Given the description of an element on the screen output the (x, y) to click on. 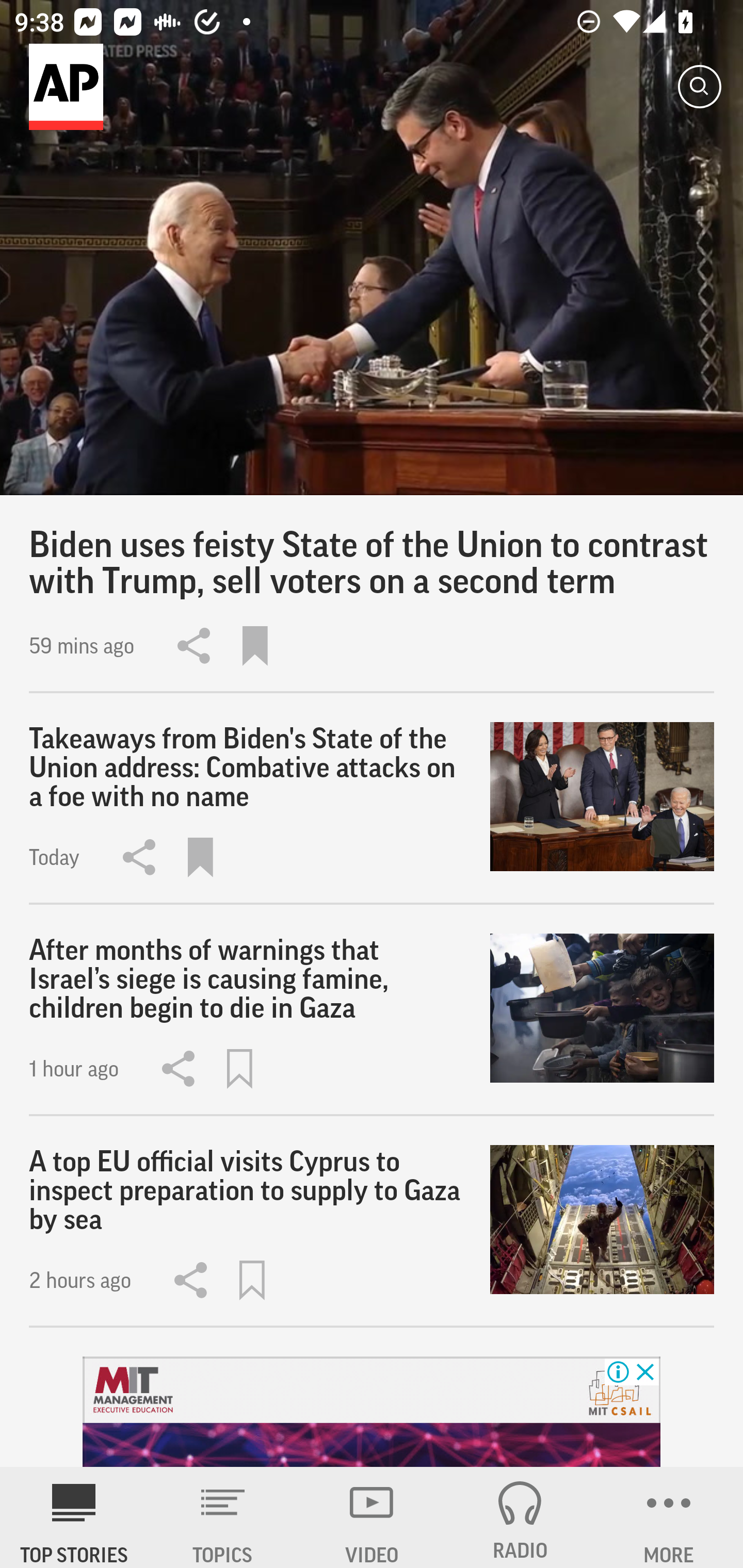
AP News TOP STORIES (74, 1517)
TOPICS (222, 1517)
VIDEO (371, 1517)
RADIO (519, 1517)
MORE (668, 1517)
